Given the description of an element on the screen output the (x, y) to click on. 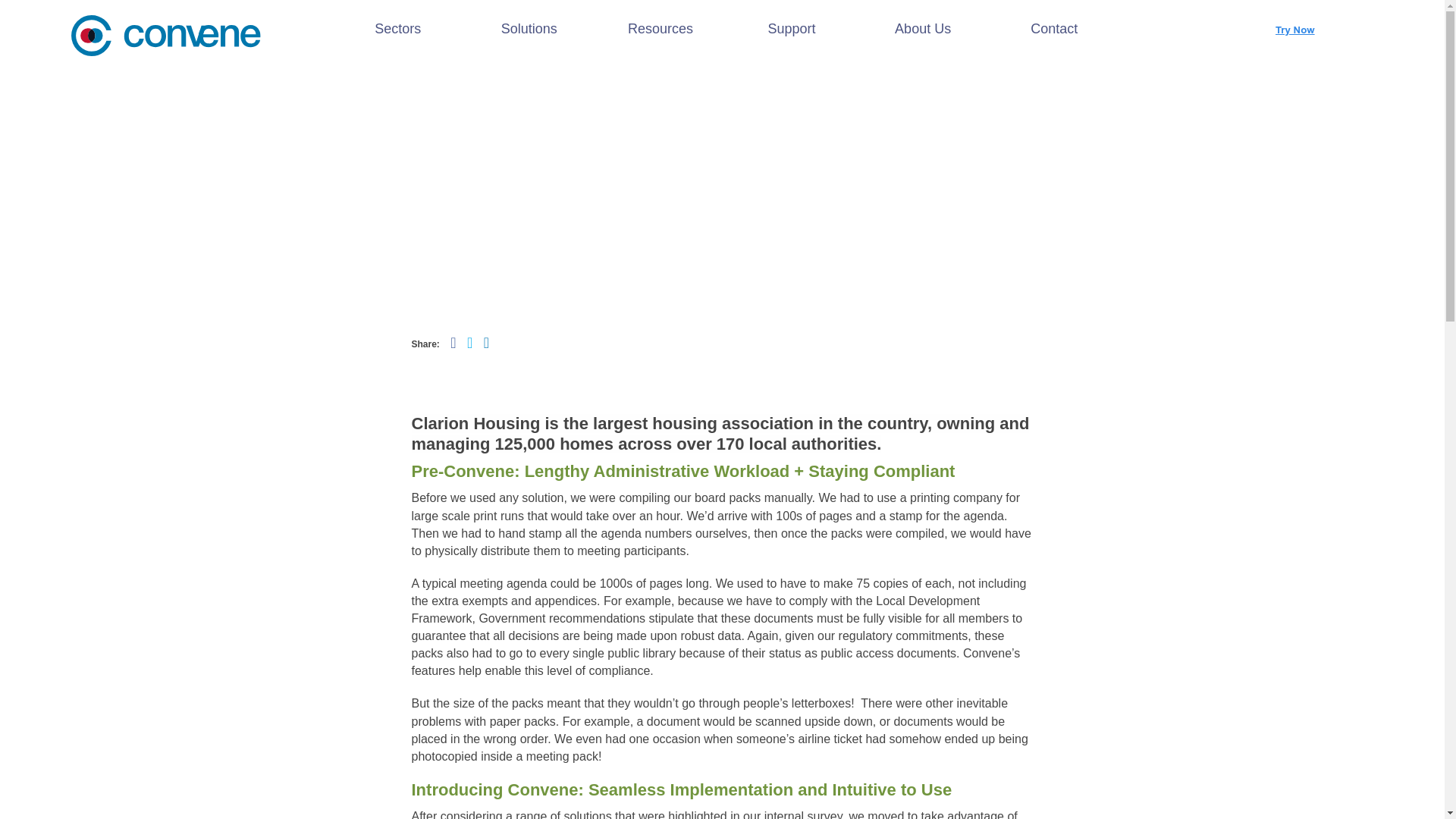
Resources (660, 28)
Contact (1054, 28)
Support (791, 28)
About Us (923, 28)
Sectors (398, 28)
Solutions (529, 28)
